Given the description of an element on the screen output the (x, y) to click on. 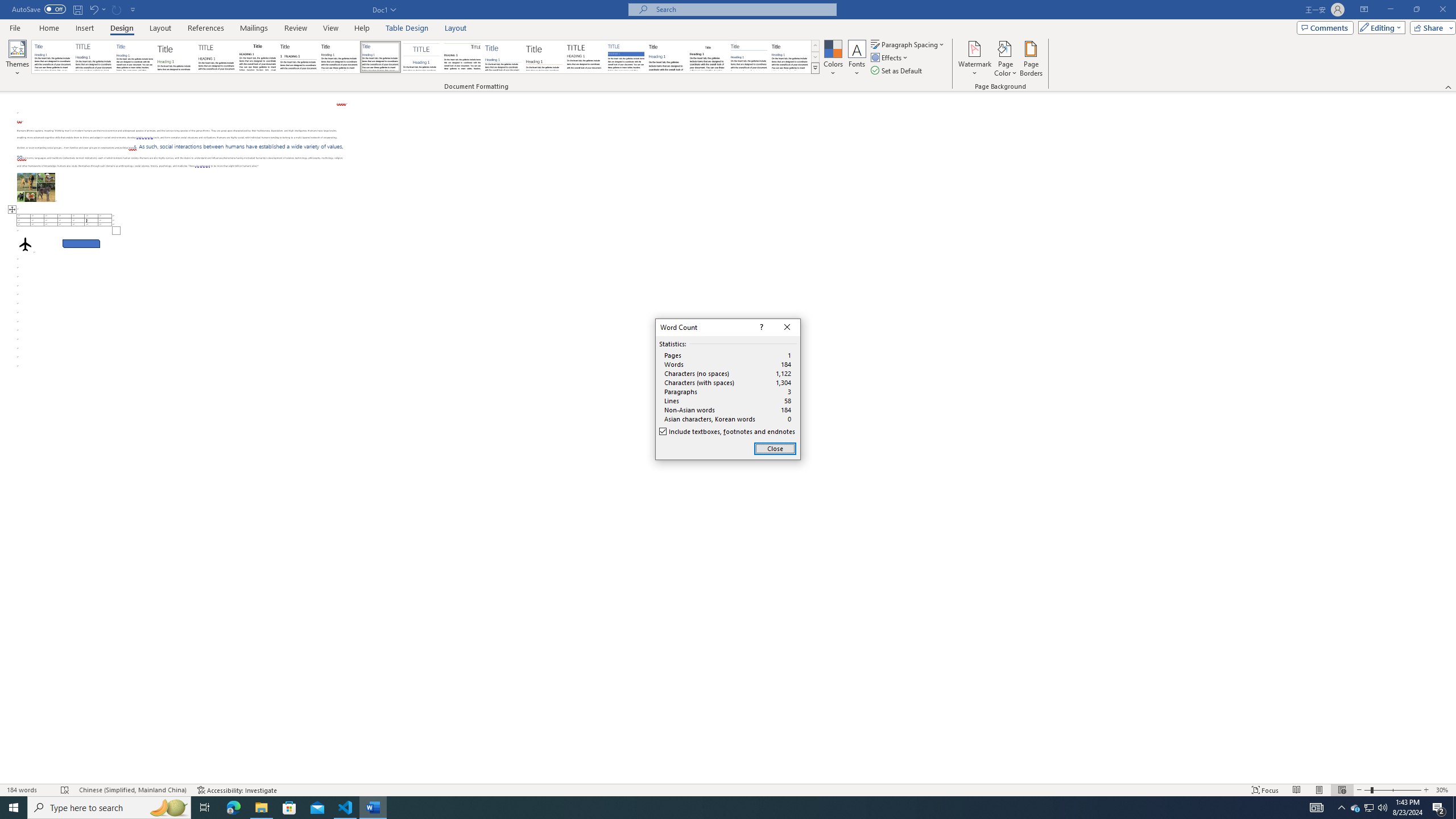
Start (13, 807)
Lines (Distinctive) (1355, 807)
File Tab (462, 56)
Restore Down (15, 27)
Close (1416, 9)
Paragraph Spacing (775, 448)
Shaded (908, 44)
System (625, 56)
Spelling and Grammar Check Errors (6, 6)
AutomationID: 4105 (65, 790)
Help (1316, 807)
